Given the description of an element on the screen output the (x, y) to click on. 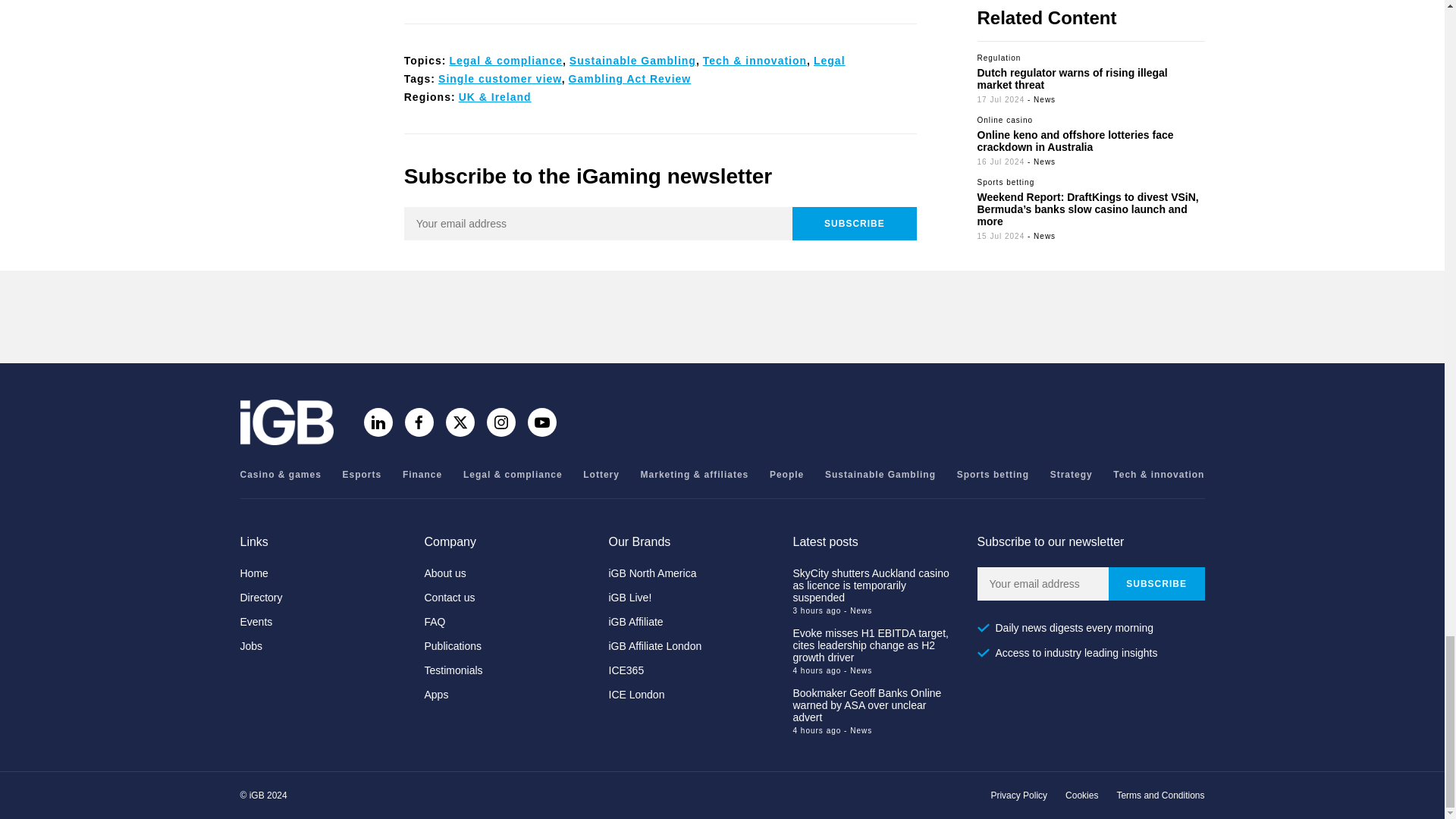
Subscribe (853, 223)
Subscribe (1156, 583)
3rd party ad content (721, 316)
